Given the description of an element on the screen output the (x, y) to click on. 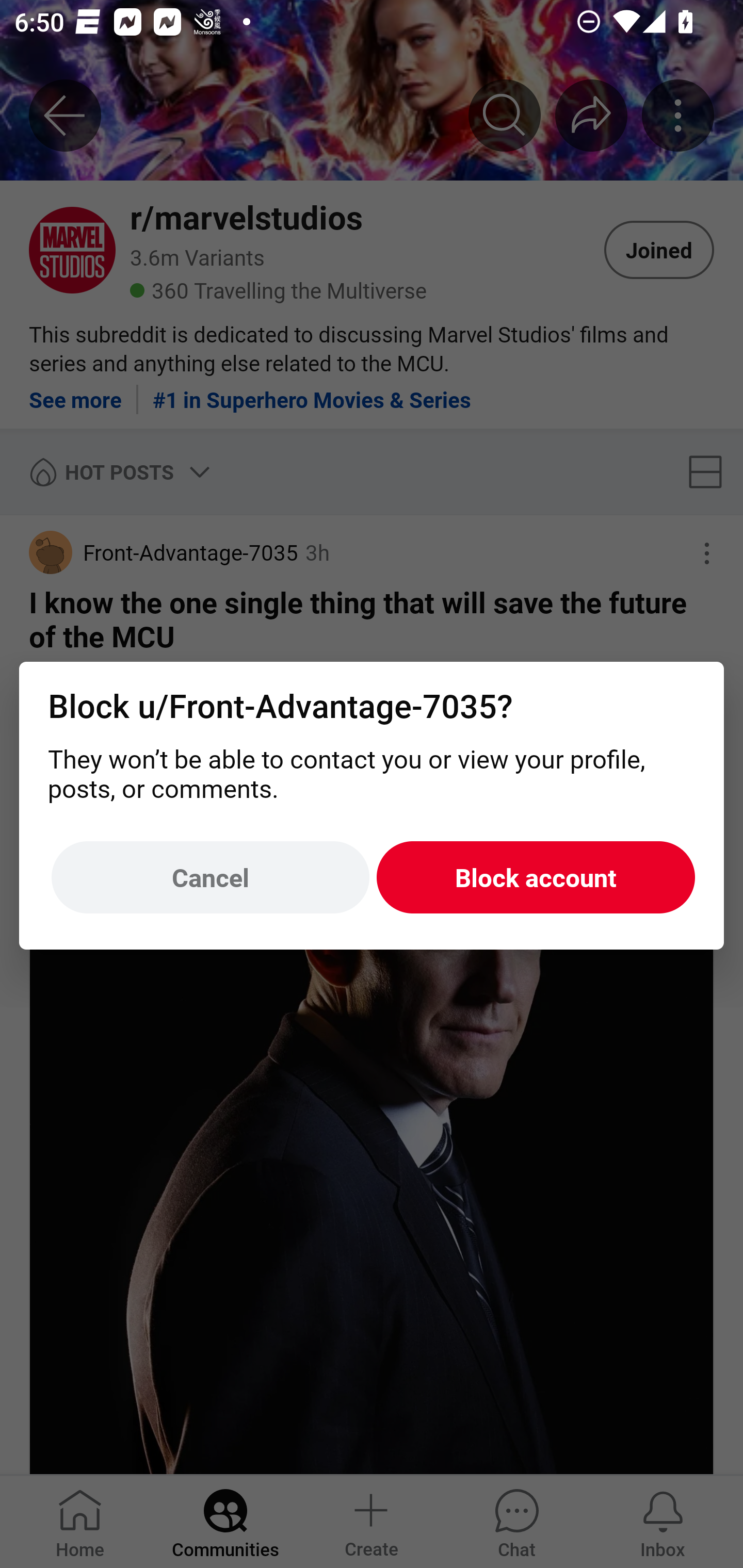
Cancel (210, 878)
Block account (535, 878)
